Given the description of an element on the screen output the (x, y) to click on. 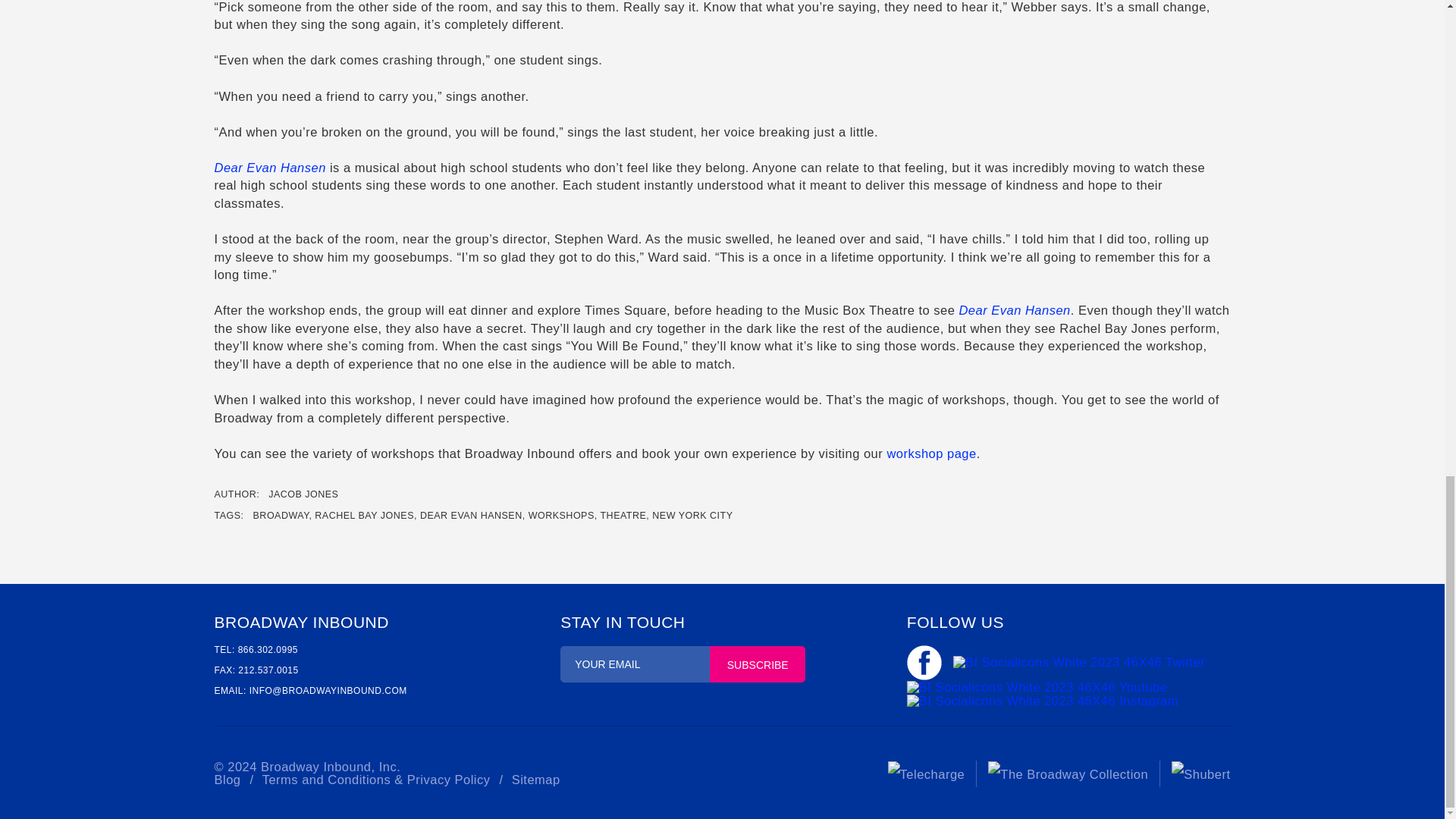
Dear Evan Hansen (1014, 309)
Dear Evan Hansen (269, 167)
subscribe (757, 664)
